Given the description of an element on the screen output the (x, y) to click on. 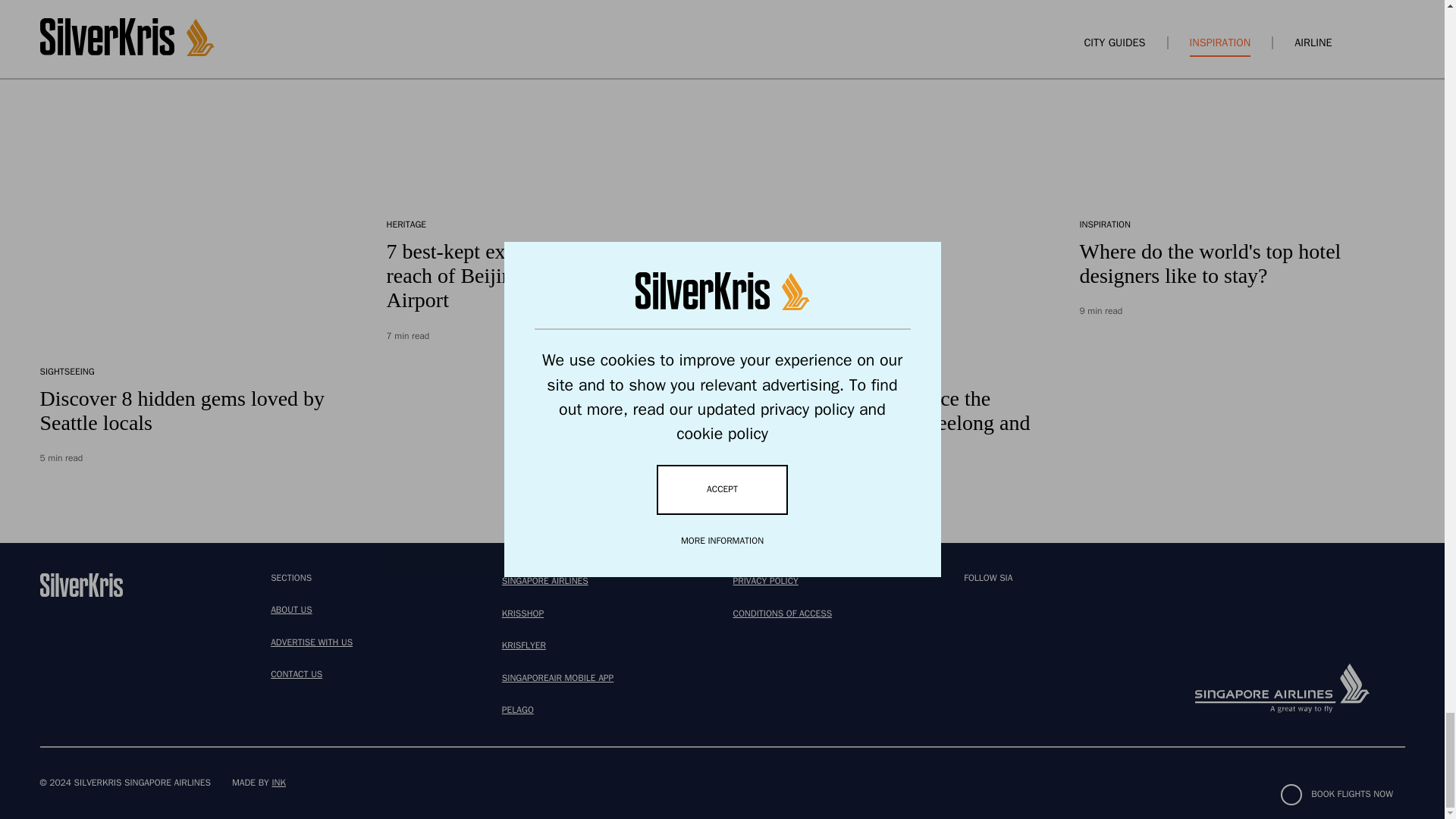
Discover 8 hidden gems loved by Seattle locals (181, 410)
INSPIRATION (1105, 225)
HERITAGE (406, 225)
SIGHTSEEING (66, 372)
